Given the description of an element on the screen output the (x, y) to click on. 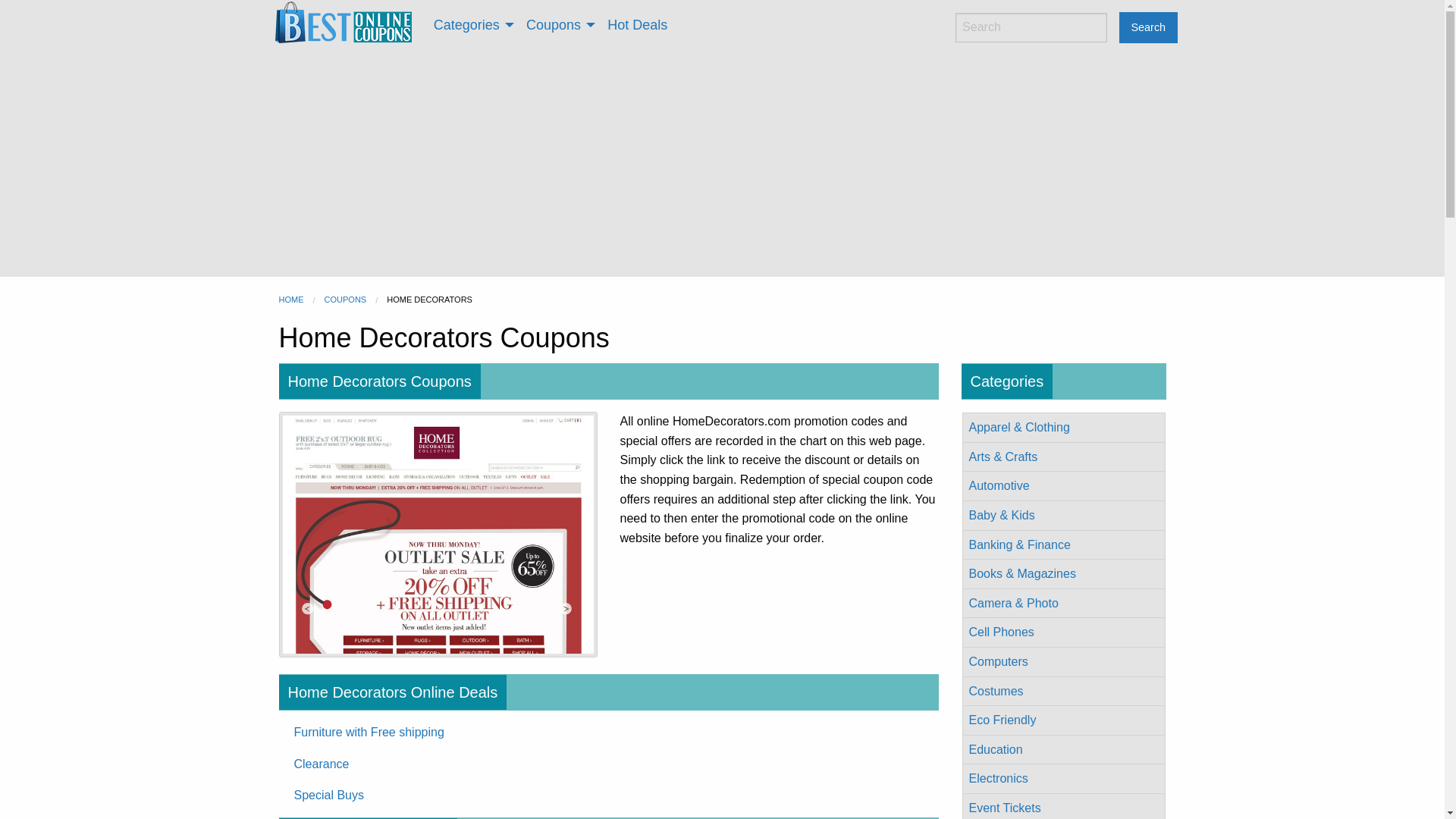
Coupons (558, 24)
Categories (470, 24)
